Given the description of an element on the screen output the (x, y) to click on. 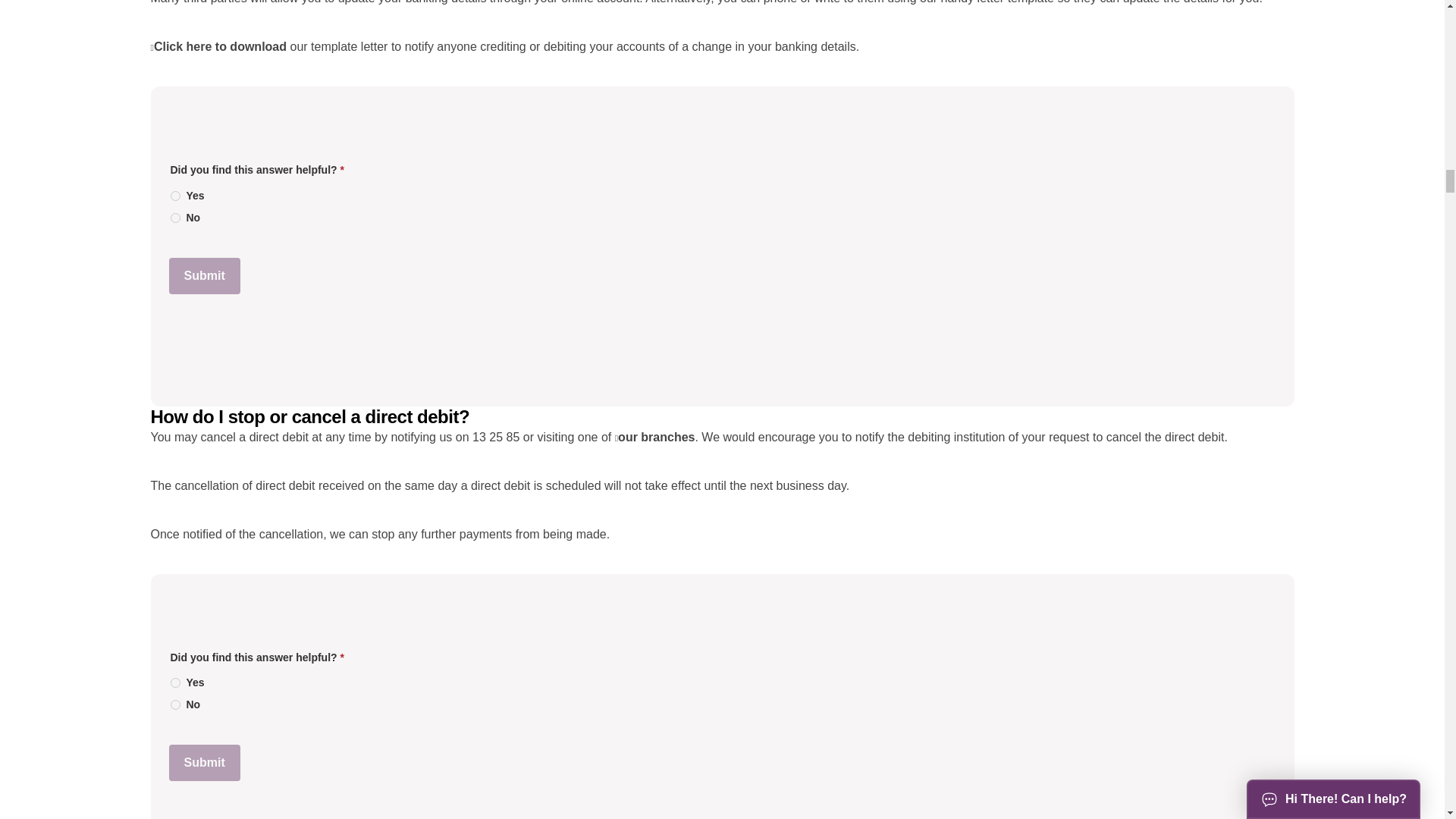
No (174, 217)
Yes (174, 682)
No (174, 705)
Yes (174, 195)
